Given the description of an element on the screen output the (x, y) to click on. 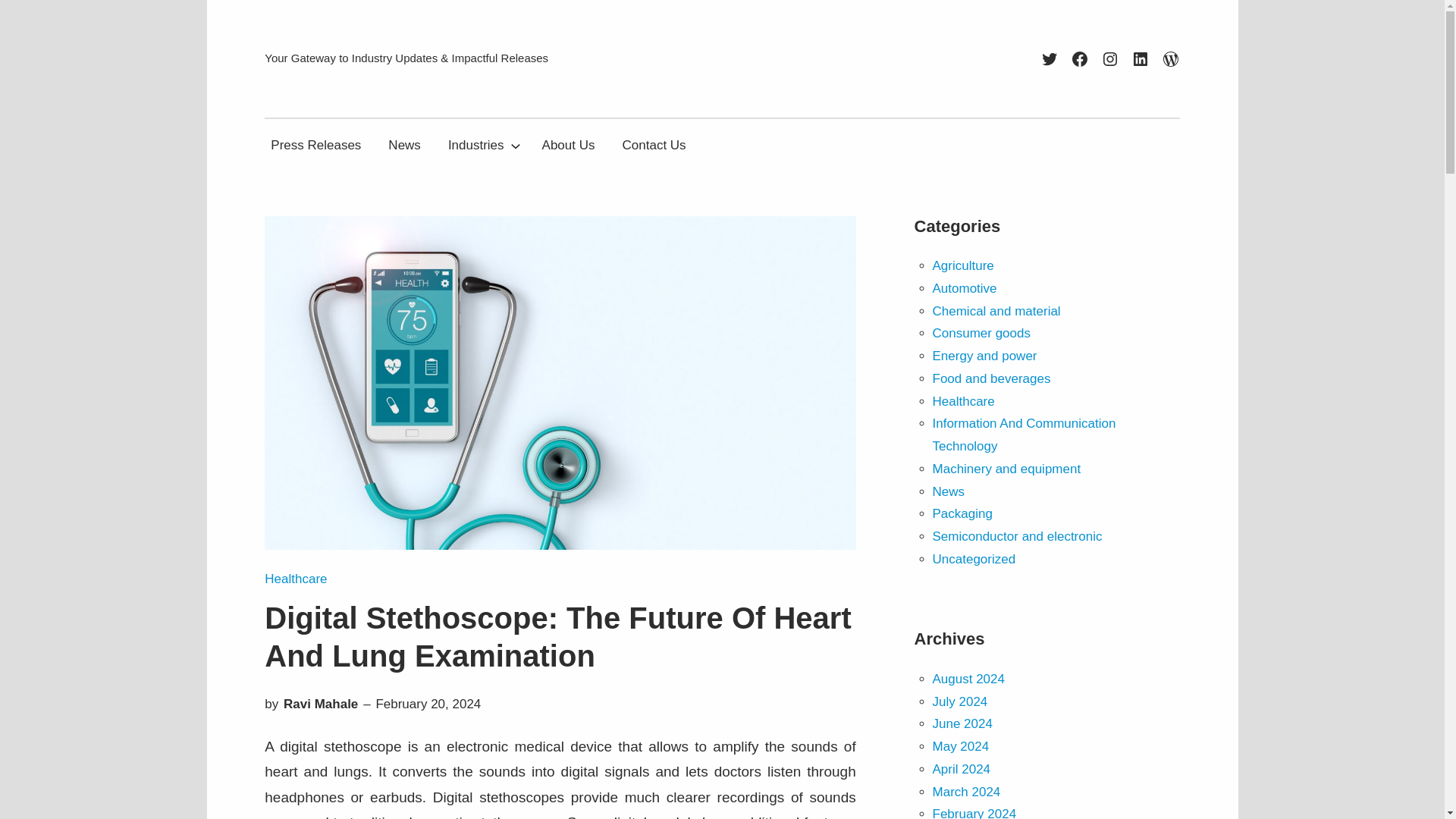
Facebook (1079, 58)
LinkedIn (1140, 58)
Agriculture (963, 265)
Twitter (1049, 58)
February 20, 2024 (427, 703)
Industries (476, 144)
Press Releases (315, 144)
WordPress (1170, 58)
About Us (568, 144)
Healthcare (295, 578)
